Given the description of an element on the screen output the (x, y) to click on. 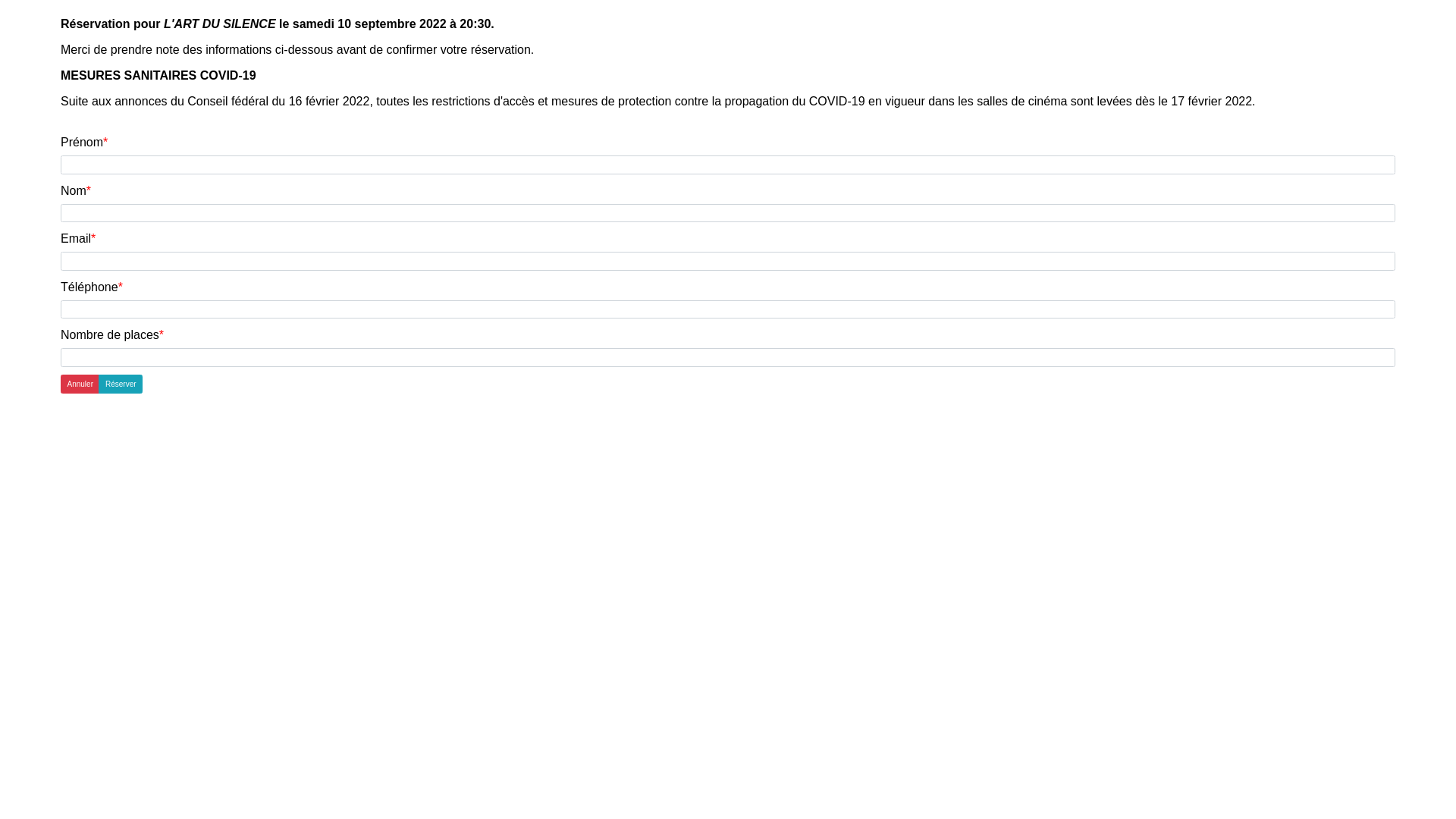
Annuler Element type: text (79, 383)
